Given the description of an element on the screen output the (x, y) to click on. 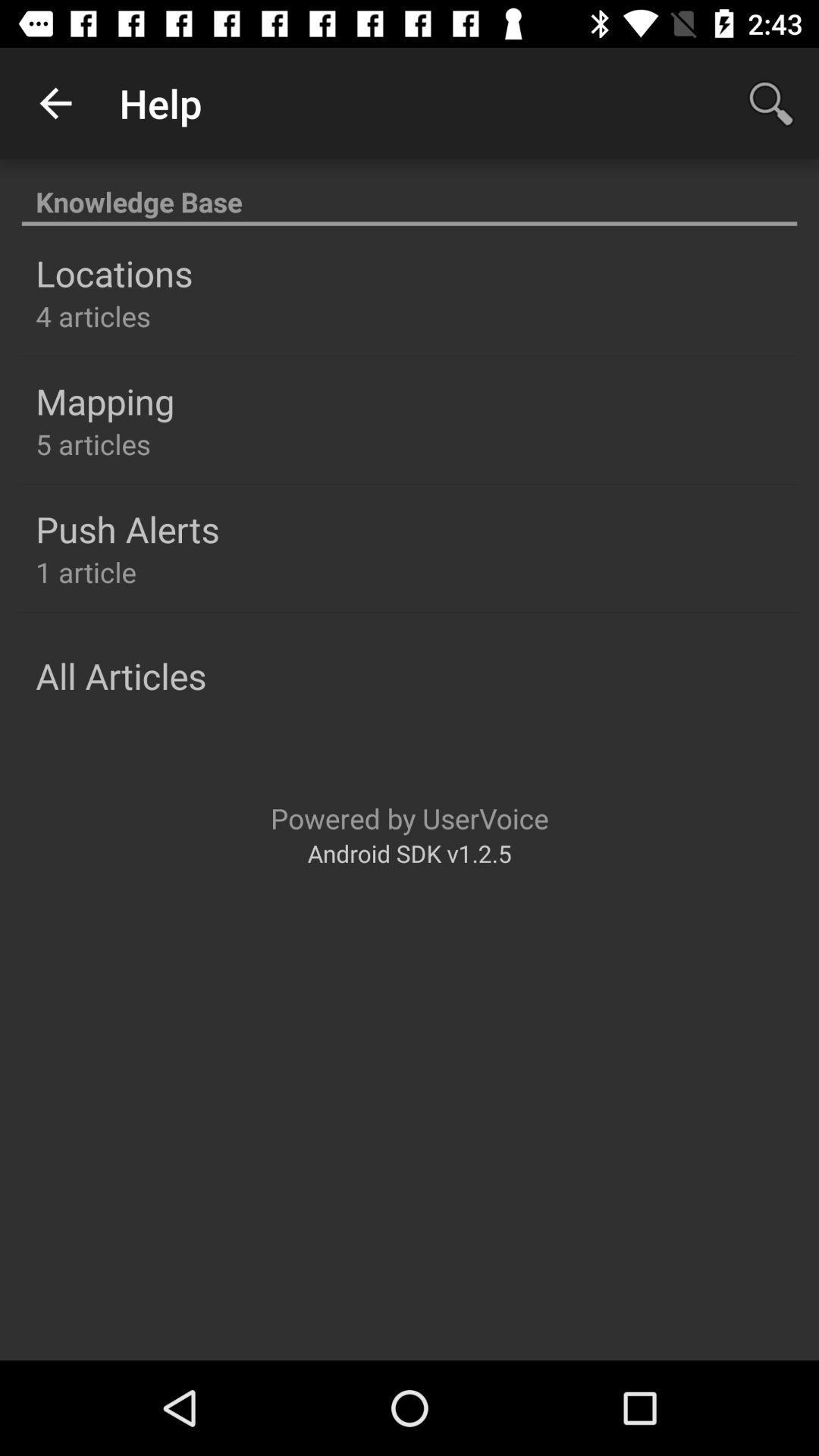
open the mapping (104, 401)
